Given the description of an element on the screen output the (x, y) to click on. 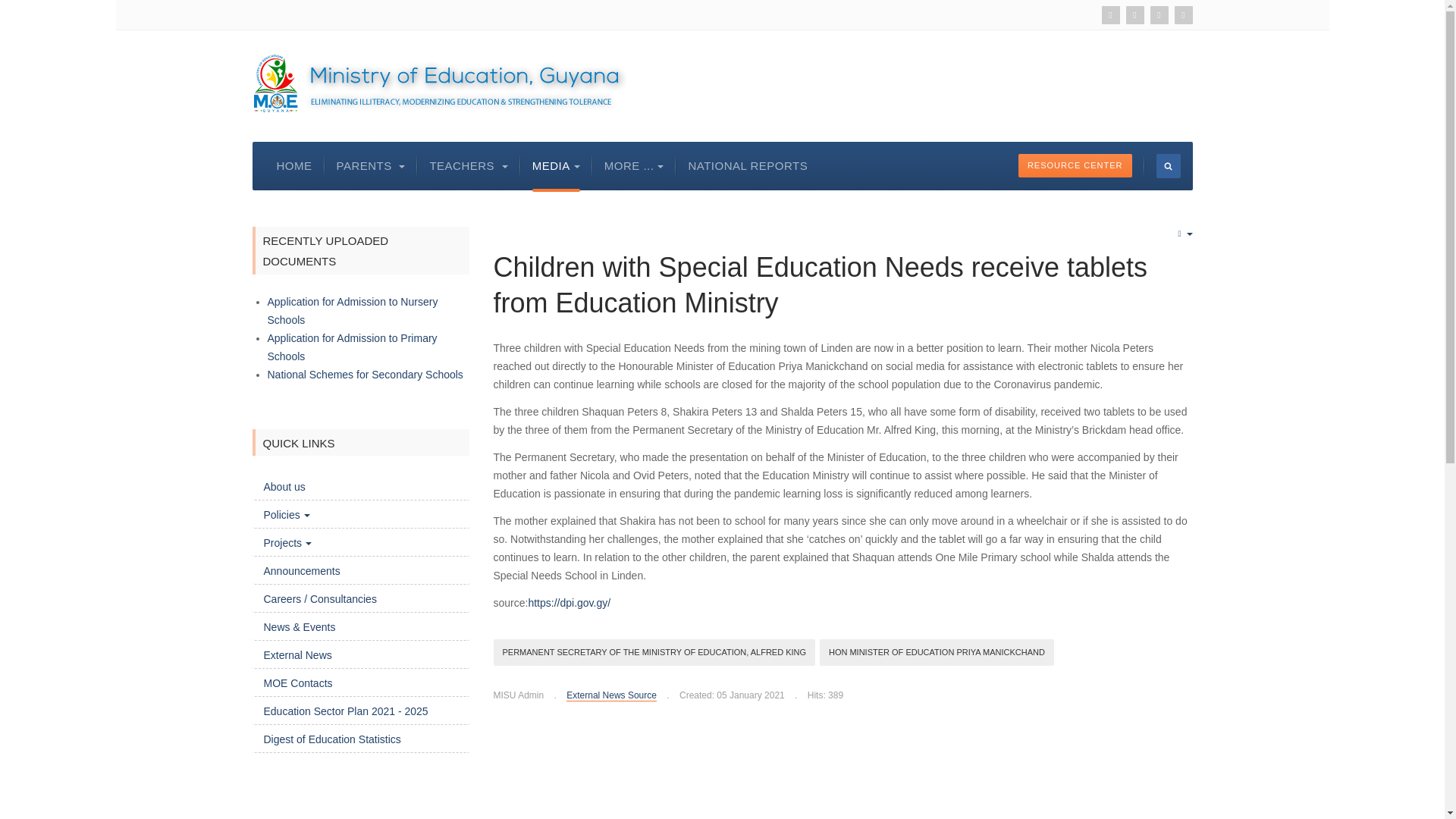
Instagram (1182, 14)
Facebook (1158, 14)
Document Section (1074, 165)
Twitter (1133, 14)
Category:  (605, 695)
Youtube (1109, 14)
Ministry of Education, Guyana (438, 83)
Written by  (518, 695)
